Given the description of an element on the screen output the (x, y) to click on. 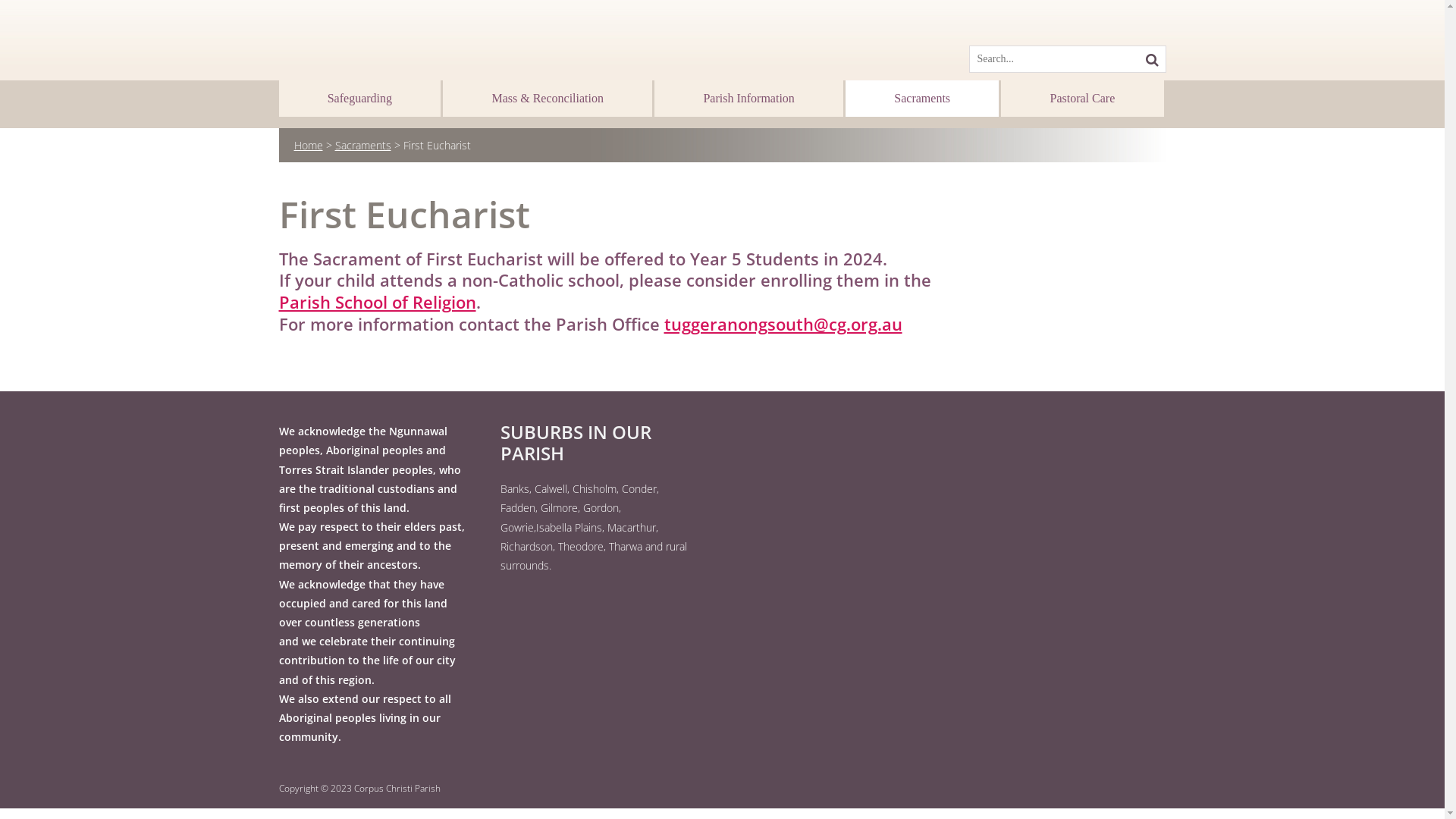
Pastoral Care Element type: text (1082, 98)
Safeguarding Element type: text (360, 98)
Parish Information Element type: text (748, 98)
Sacraments Element type: text (921, 98)
Mass & Reconciliation Element type: text (547, 98)
Corpus Christi Parish Element type: text (396, 787)
tuggeranongsouth@cg.org.au Element type: text (783, 323)
Parish School of Religion Element type: text (377, 301)
Home Element type: text (308, 145)
Sacraments Element type: text (363, 145)
